Given the description of an element on the screen output the (x, y) to click on. 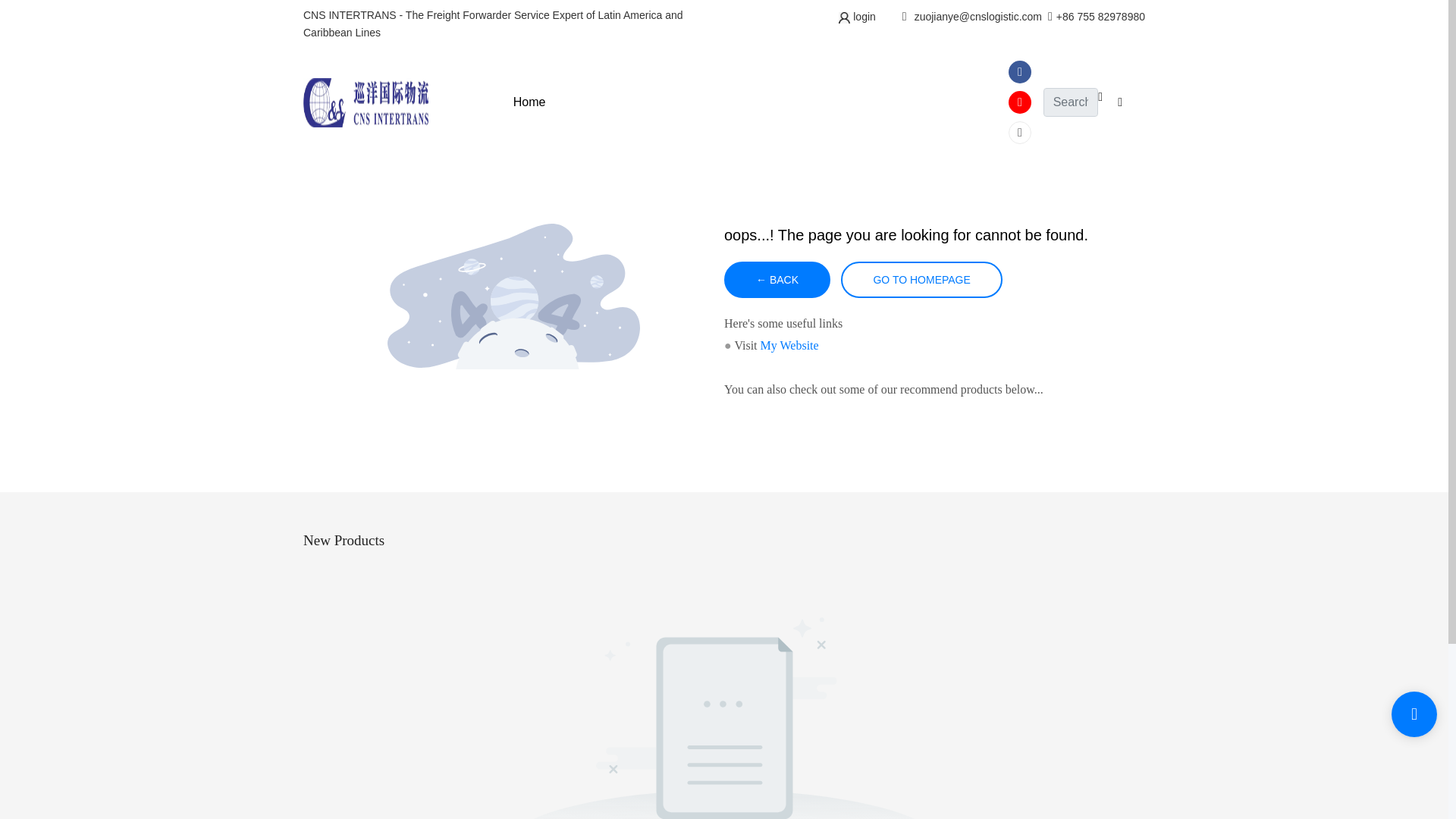
GO TO HOMEPAGE (921, 279)
My Website (789, 345)
 login (862, 16)
Home (529, 102)
